Given the description of an element on the screen output the (x, y) to click on. 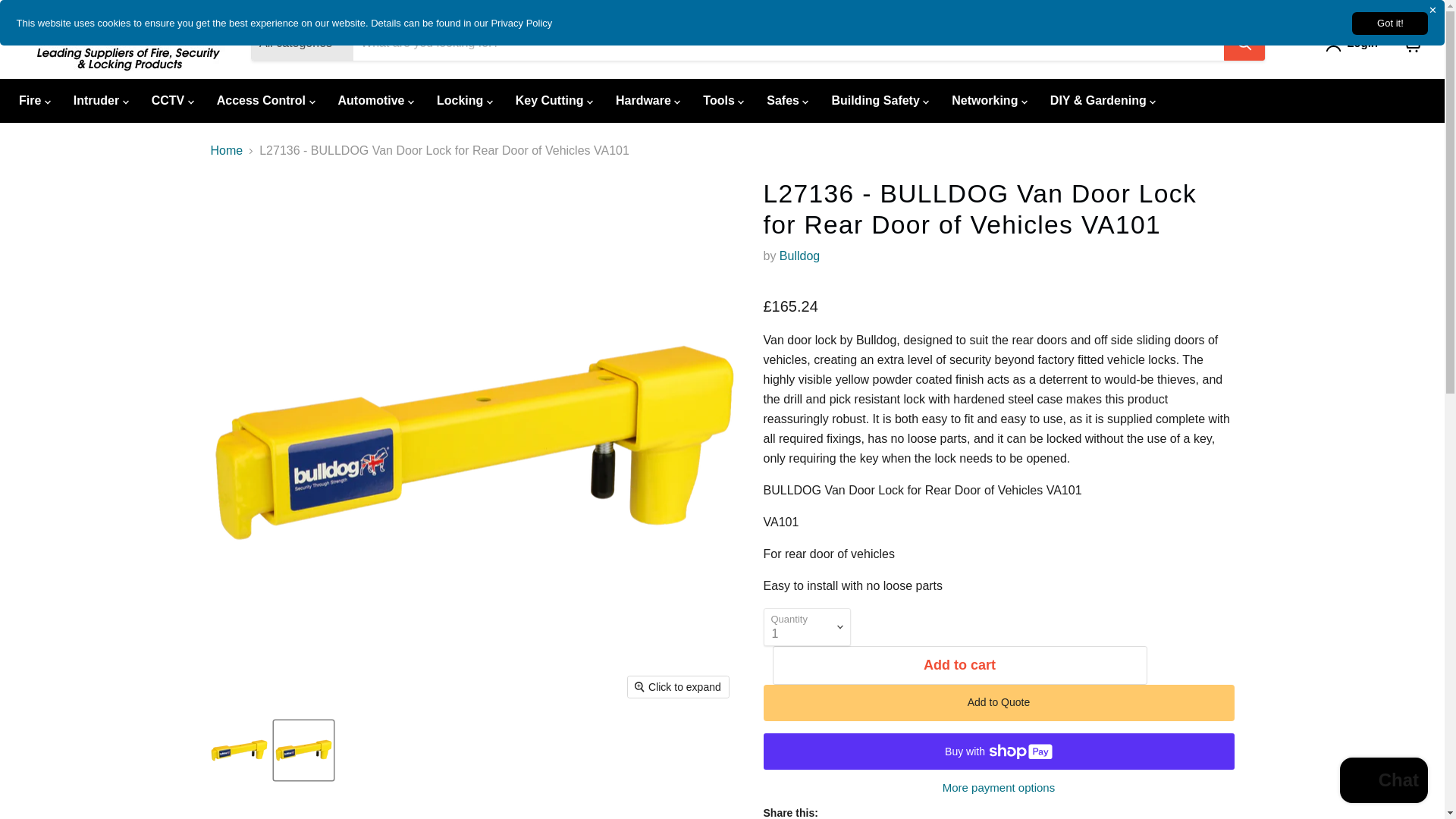
View cart (1411, 42)
Shopify online store chat (1383, 781)
Login (1362, 43)
Bulldog (798, 255)
